Given the description of an element on the screen output the (x, y) to click on. 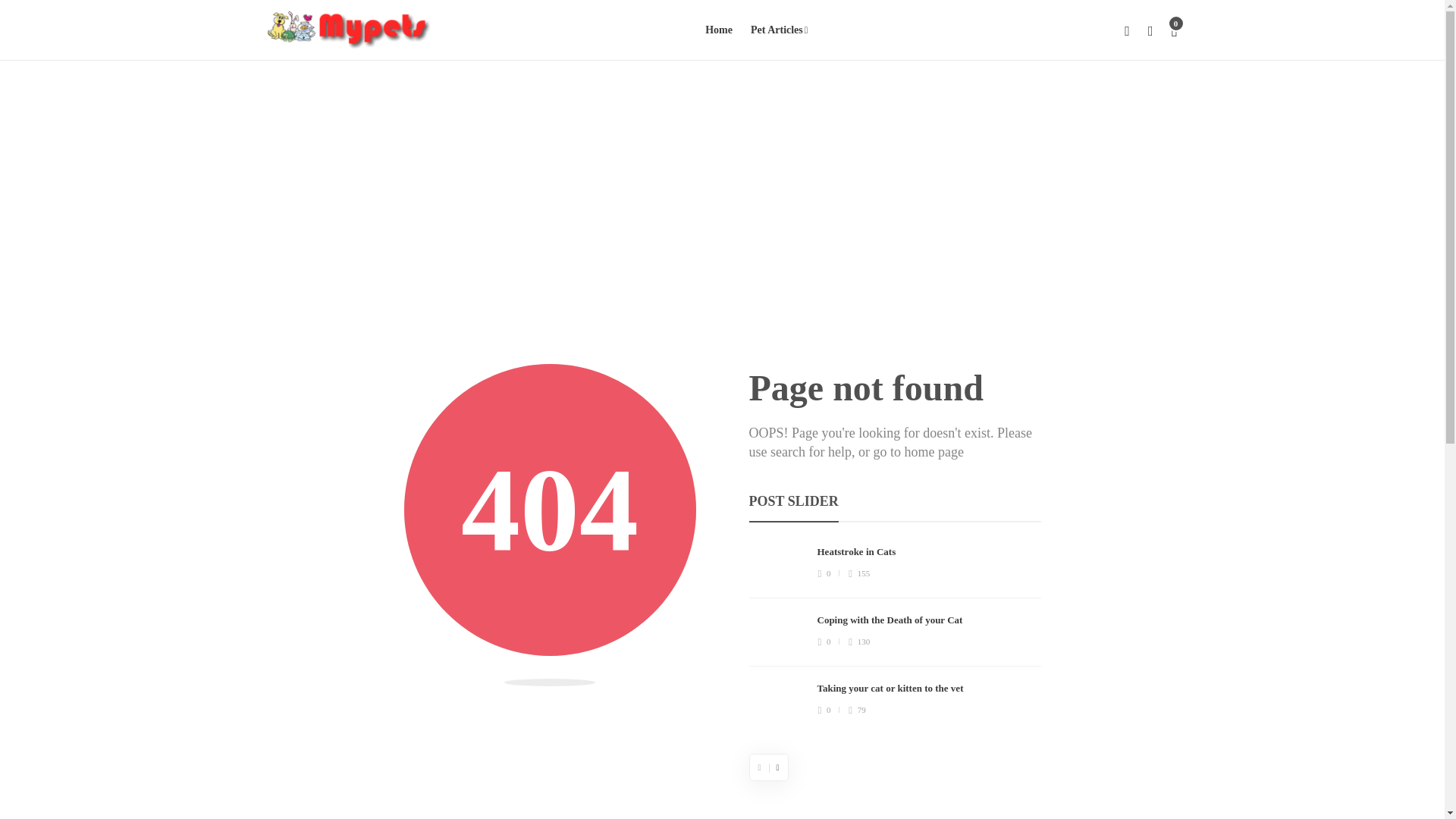
Pet Articles (779, 29)
